Given the description of an element on the screen output the (x, y) to click on. 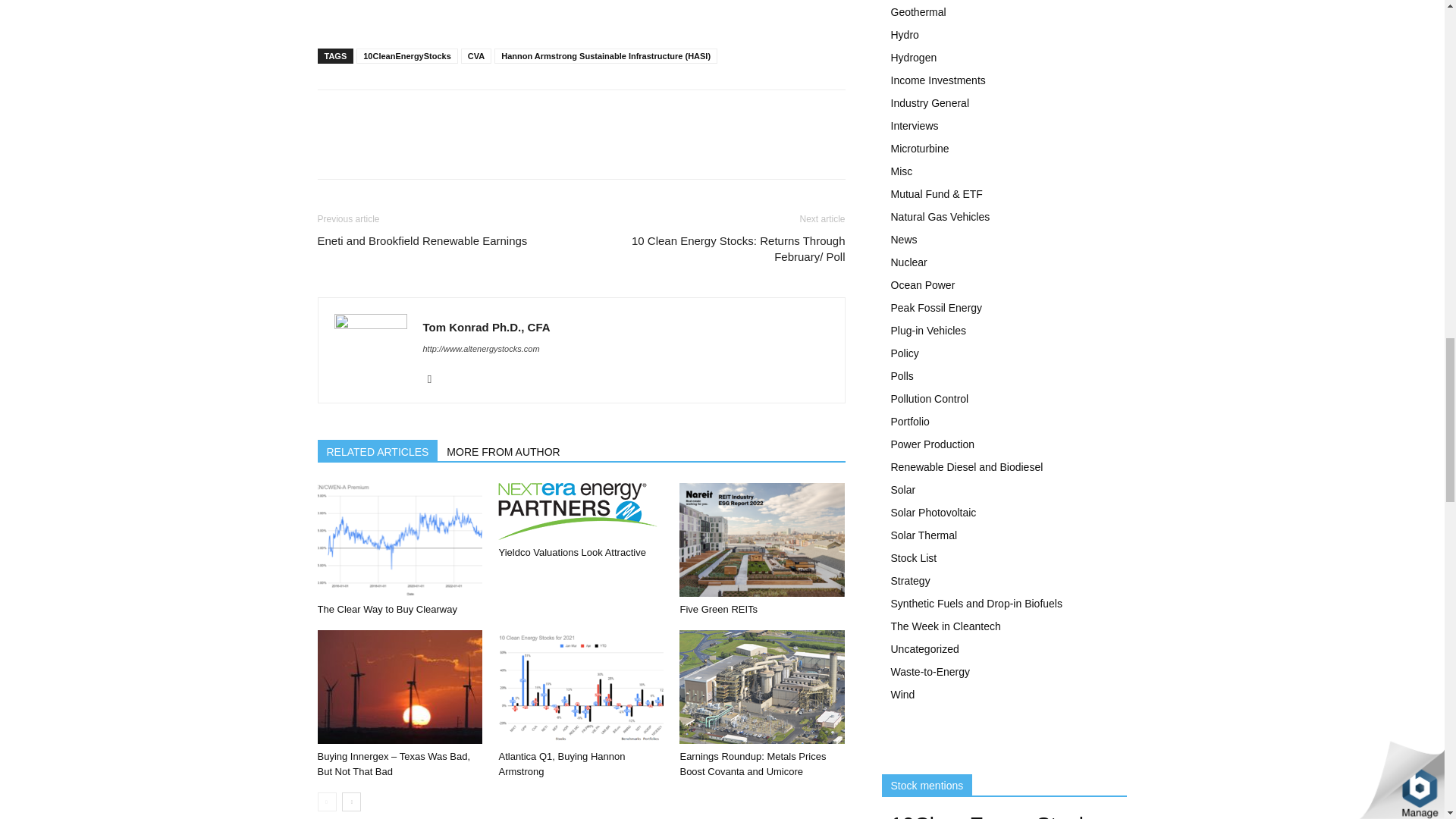
The Clear Way to Buy Clearway (387, 609)
Yieldco Valuations Look Attractive (580, 511)
The Clear Way to Buy Clearway (399, 540)
Twitter (435, 379)
